Given the description of an element on the screen output the (x, y) to click on. 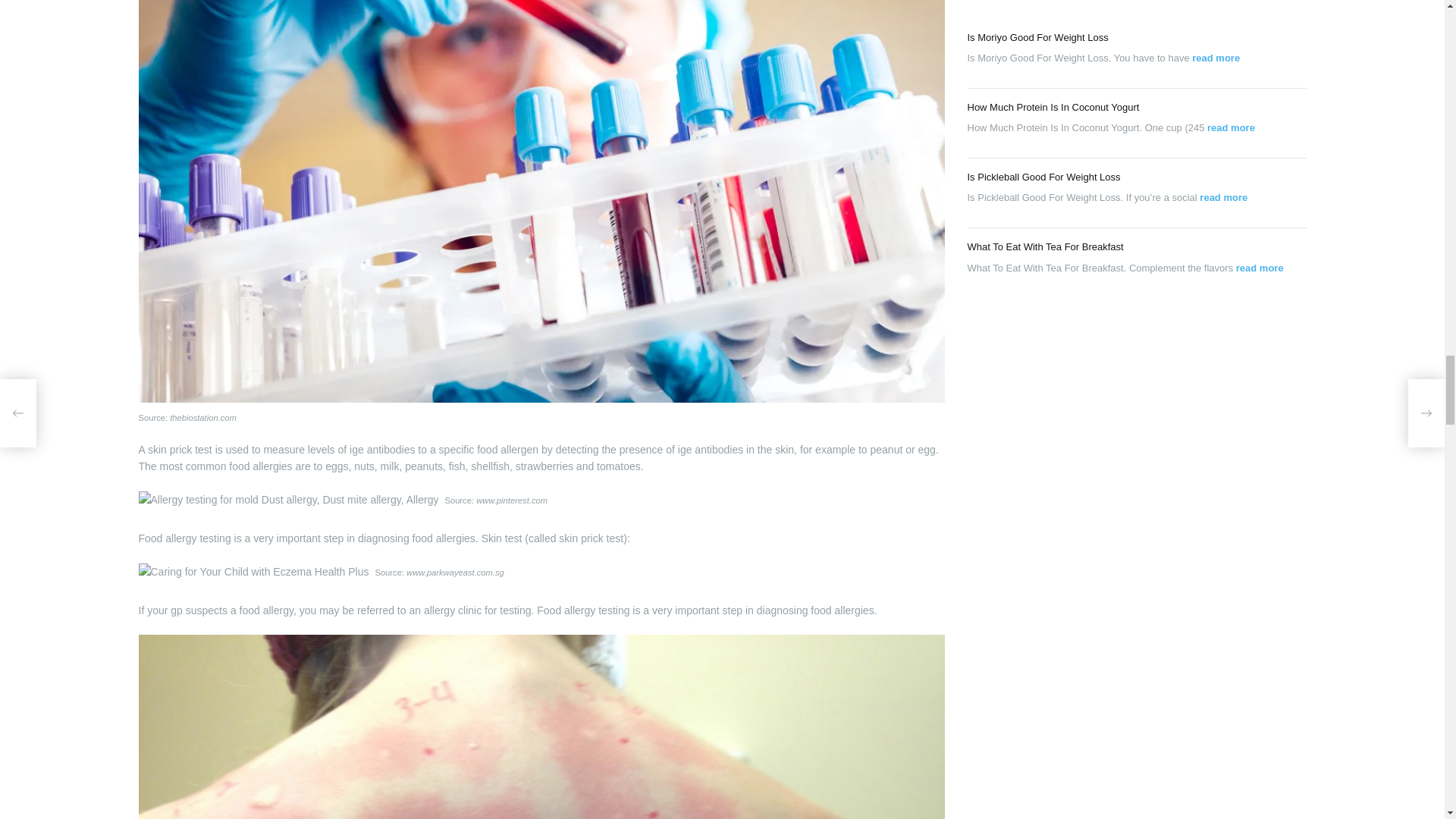
What Food Allergies Do They Test For 41 (288, 499)
What Food Allergies Do They Test For 42 (253, 571)
